Given the description of an element on the screen output the (x, y) to click on. 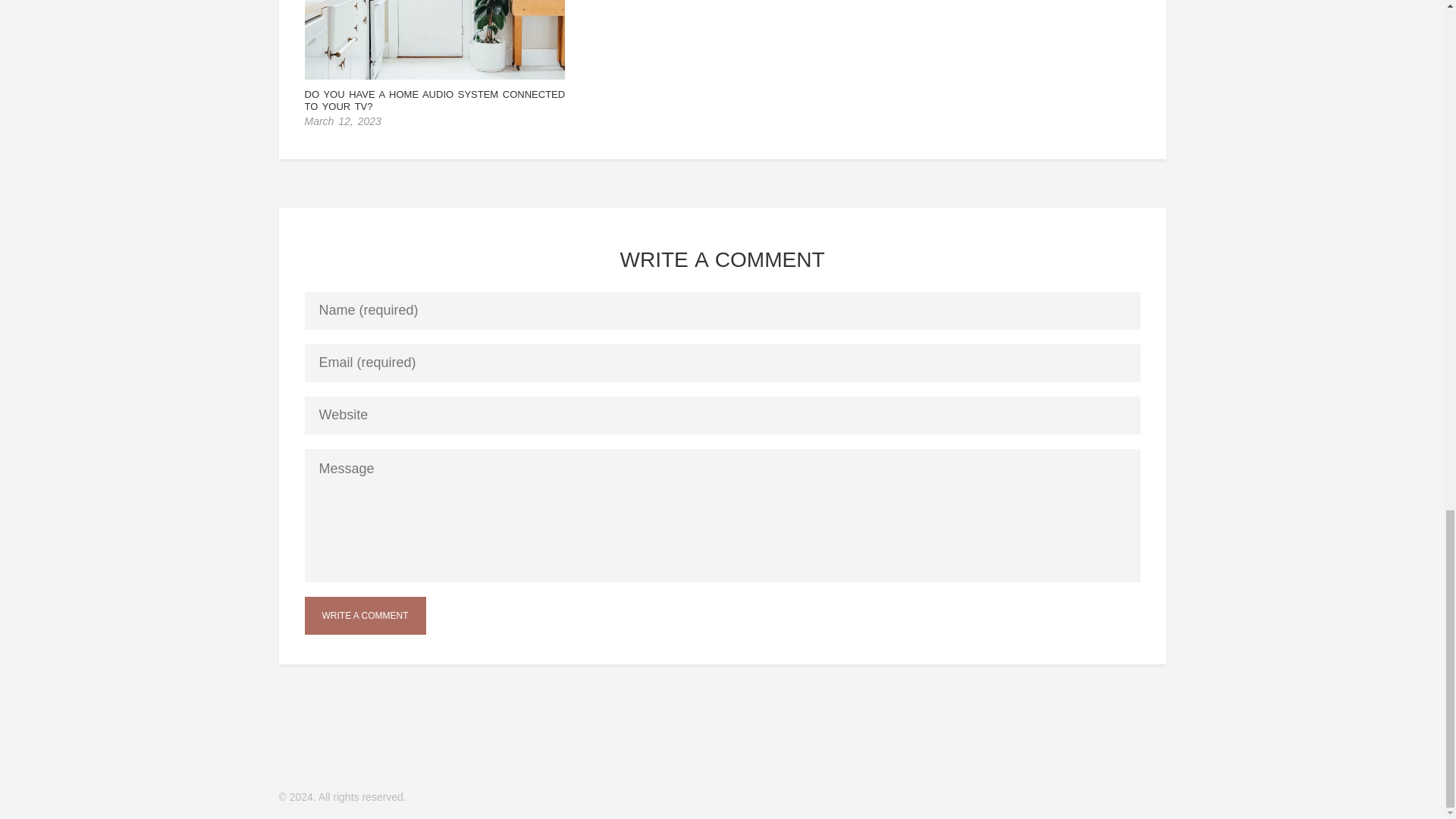
DO YOU HAVE A HOME AUDIO SYSTEM CONNECTED TO YOUR TV? (435, 100)
Write a comment (365, 615)
Write a comment (365, 615)
